Given the description of an element on the screen output the (x, y) to click on. 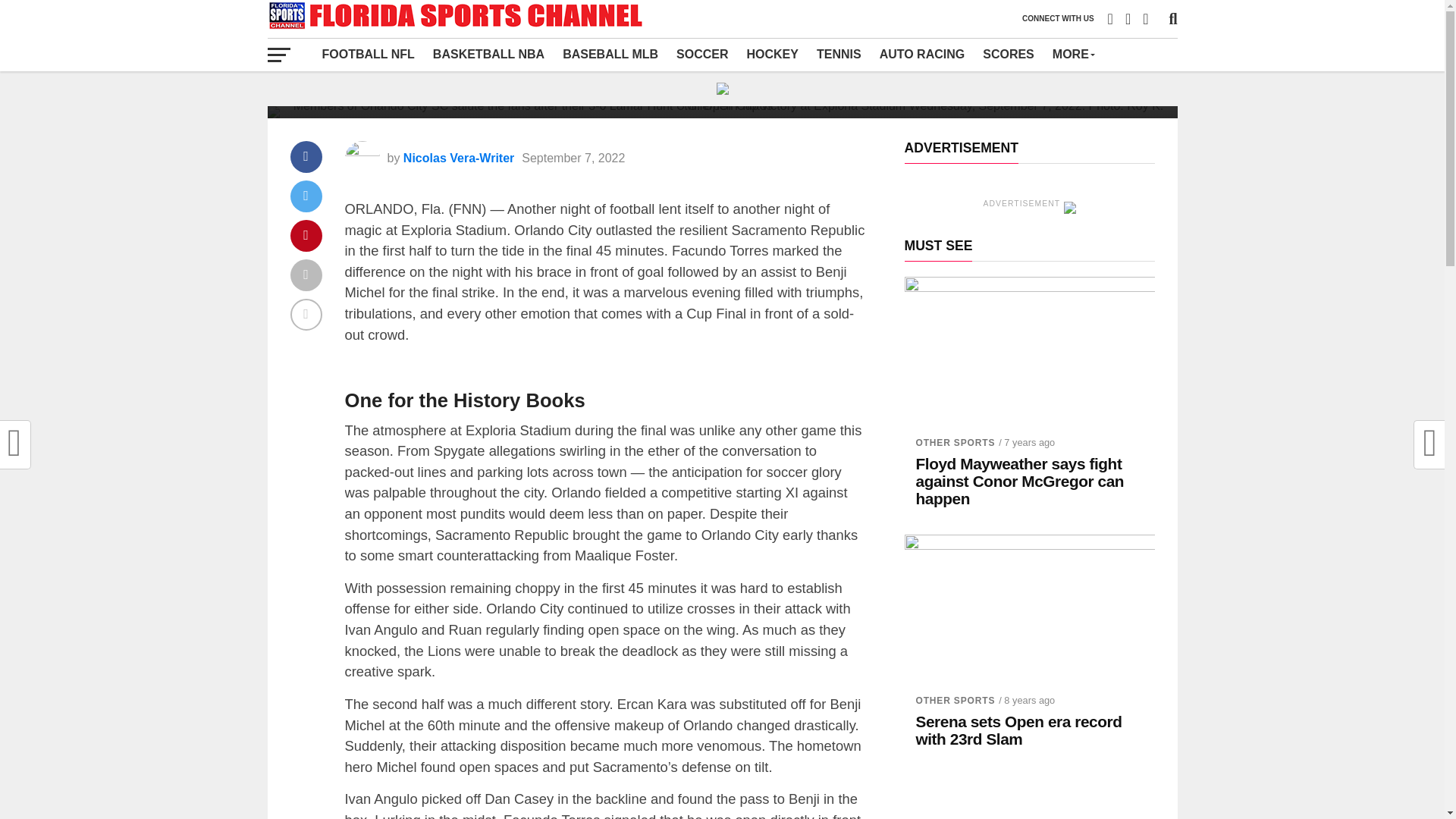
BASKETBALL NBA (488, 54)
FOOTBALL NFL (368, 54)
BASEBALL MLB (609, 54)
Posts by Nicolas Vera-Writer (458, 157)
SOCCER (701, 54)
